Given the description of an element on the screen output the (x, y) to click on. 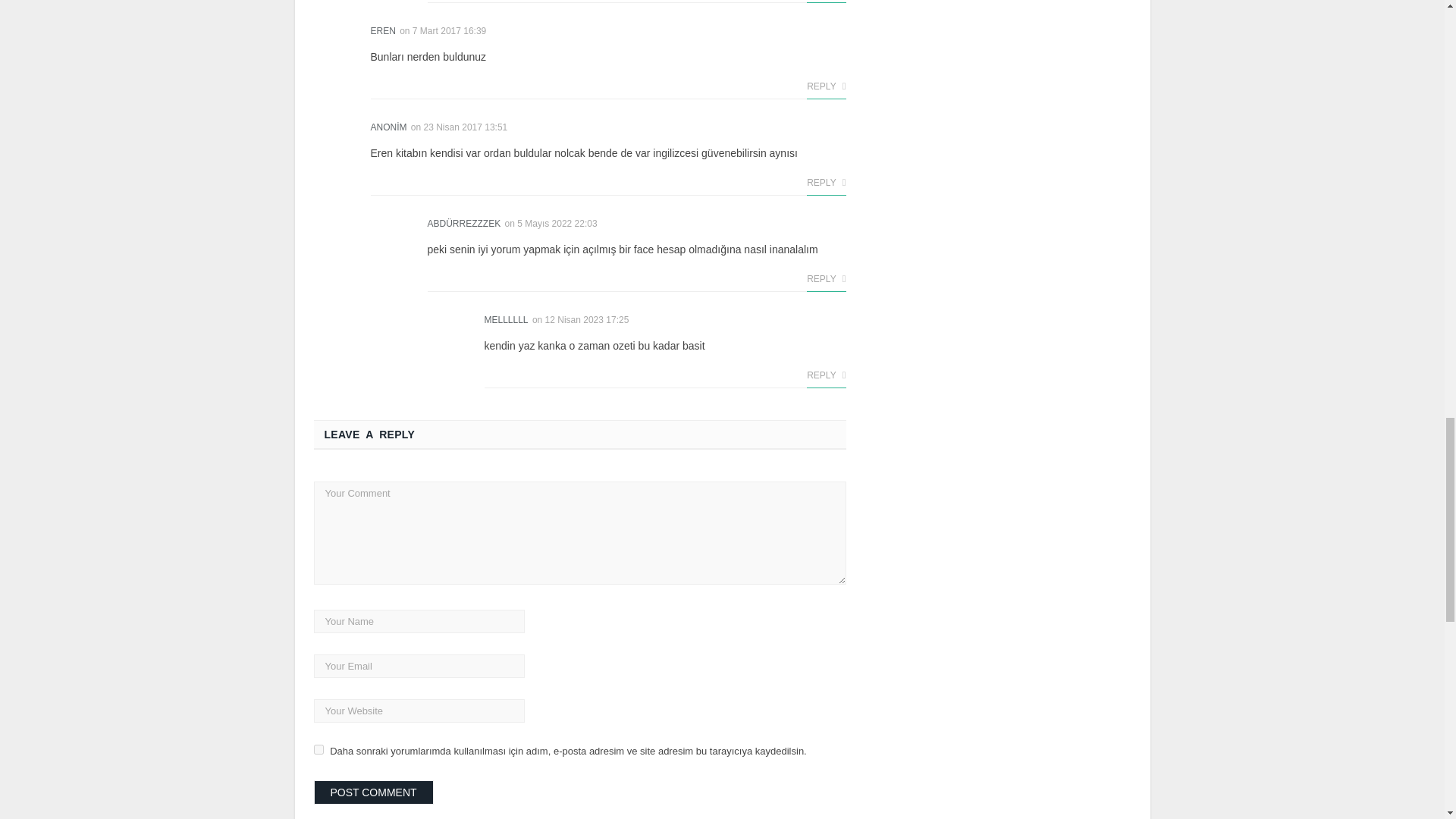
REPLY (825, 375)
12 Nisan 2023 17:25 (586, 319)
REPLY (825, 86)
Post Comment (373, 792)
7 Mart 2017 16:39 (449, 30)
REPLY (825, 1)
Post Comment (373, 792)
REPLY (825, 182)
yes (318, 749)
REPLY (825, 279)
23 Nisan 2017 13:51 (465, 127)
